Given the description of an element on the screen output the (x, y) to click on. 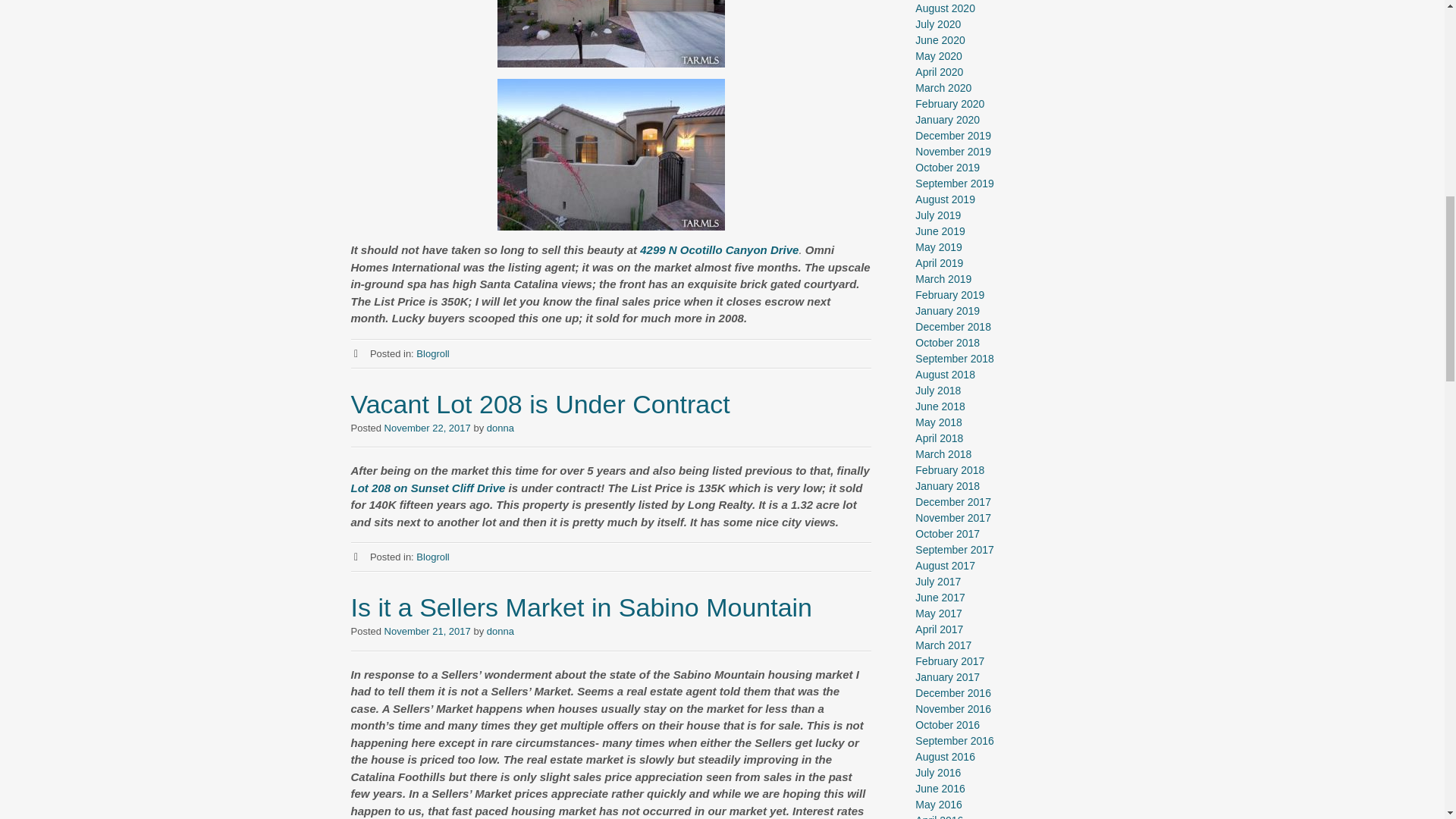
Blogroll (432, 556)
November 21, 2017 (427, 631)
donna (499, 427)
Is it a Sellers Market in Sabino Mountain (581, 606)
Blogroll (432, 352)
Vacant Lot 208 is Under Contract (539, 403)
November 22, 2017 (427, 427)
Lot 208 on Sunset Cliff Drive (427, 486)
View all posts by donna (499, 427)
View all posts by donna (499, 631)
